Given the description of an element on the screen output the (x, y) to click on. 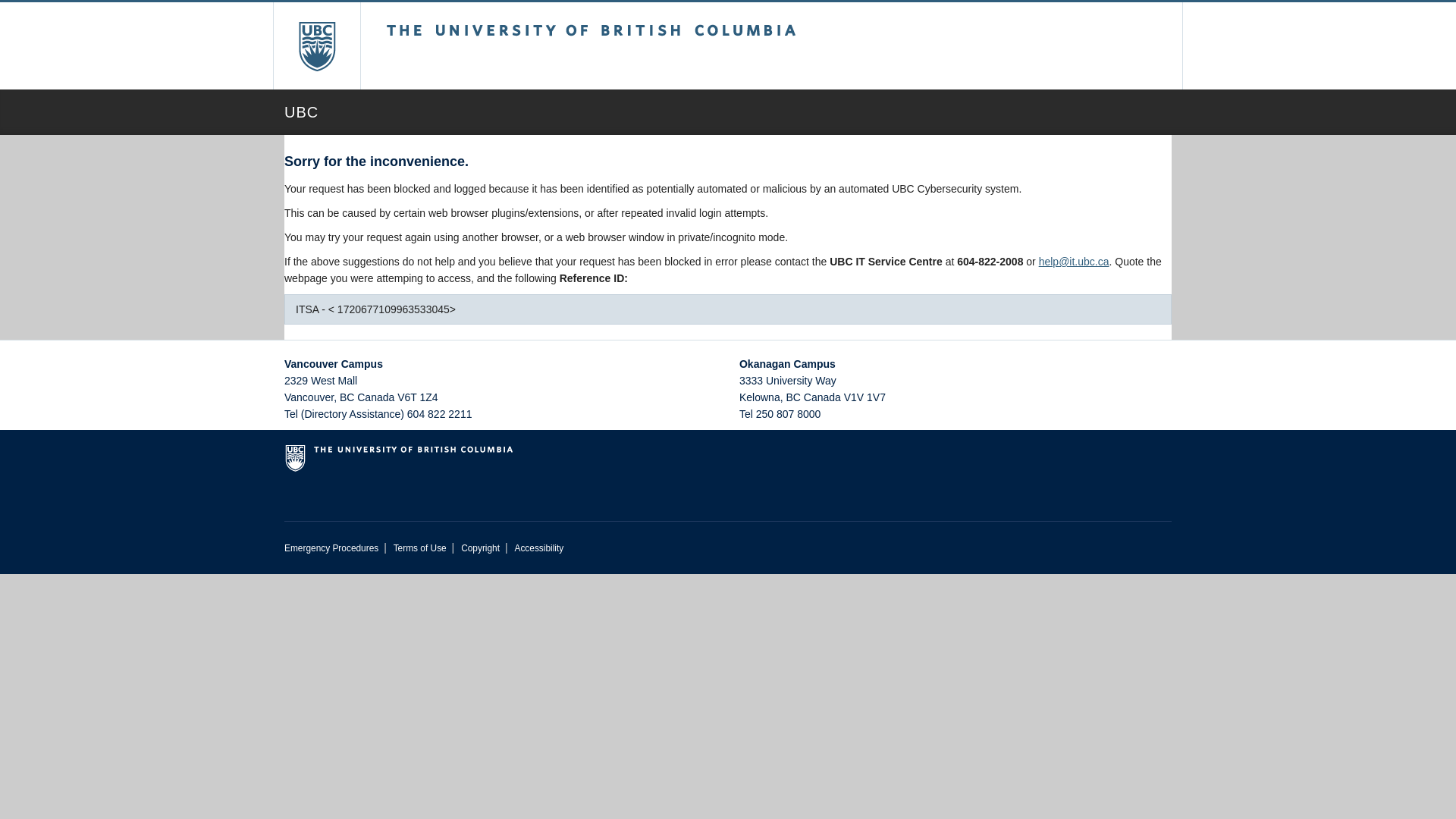
Copyright (480, 547)
Accessibility (538, 547)
UBC (727, 112)
Emergency Procedures (330, 547)
UBC (727, 112)
Email UBC IT Help Desk (1074, 261)
The University of British Columbia (316, 45)
Terms of Use (419, 547)
The University of British Columbia (641, 45)
The University of British Columbia (727, 464)
